Given the description of an element on the screen output the (x, y) to click on. 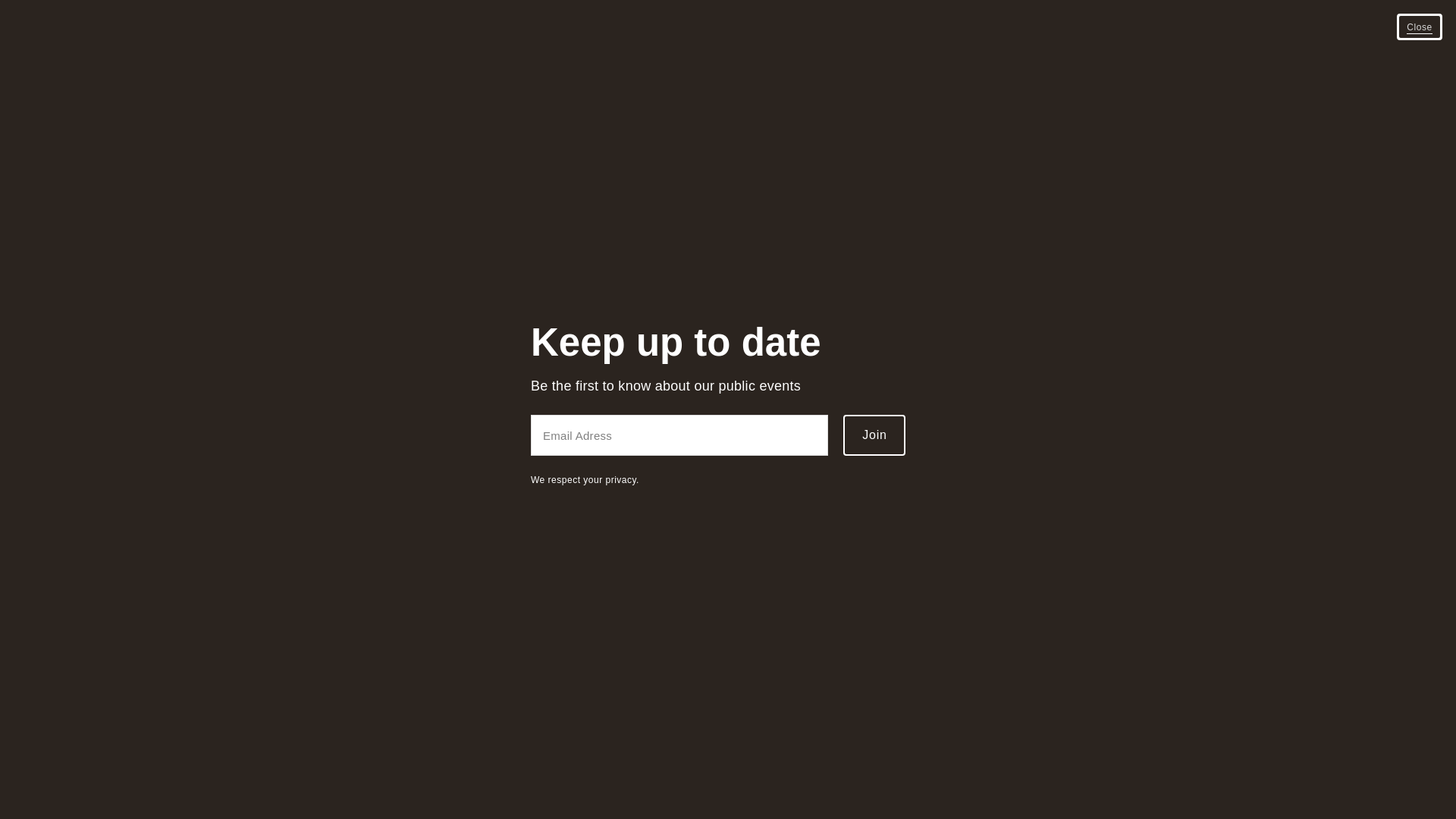
DANCE COMPANY Element type: text (727, 488)
EVENTS VENUE & STUDIO HIRE Element type: text (727, 449)
